Given the description of an element on the screen output the (x, y) to click on. 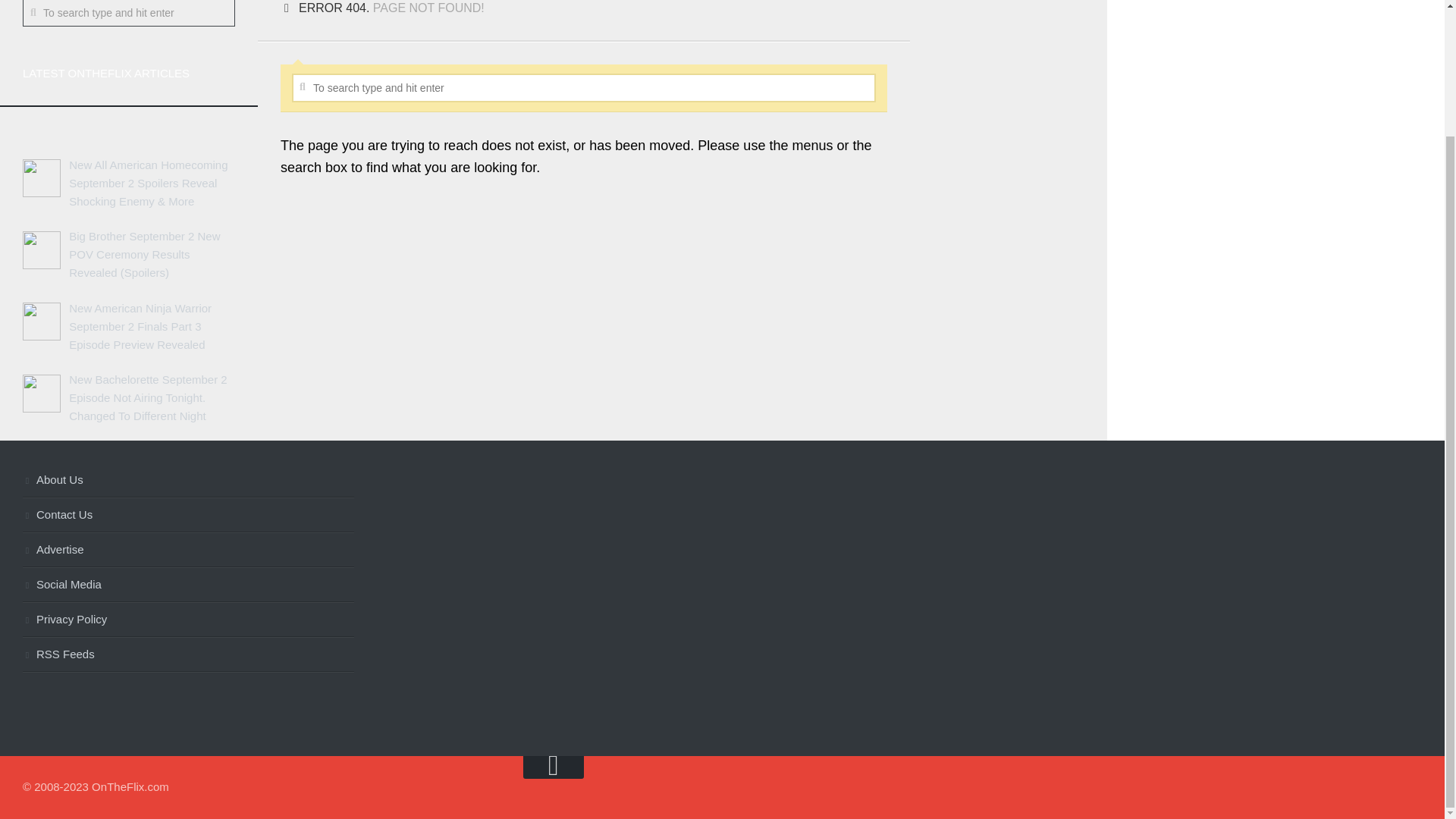
Privacy Policy (188, 620)
RSS Feeds (188, 655)
Contact Us (188, 515)
To search type and hit enter (128, 13)
Advertise (188, 550)
To search type and hit enter (584, 87)
To search type and hit enter (128, 13)
To search type and hit enter (584, 87)
